Given the description of an element on the screen output the (x, y) to click on. 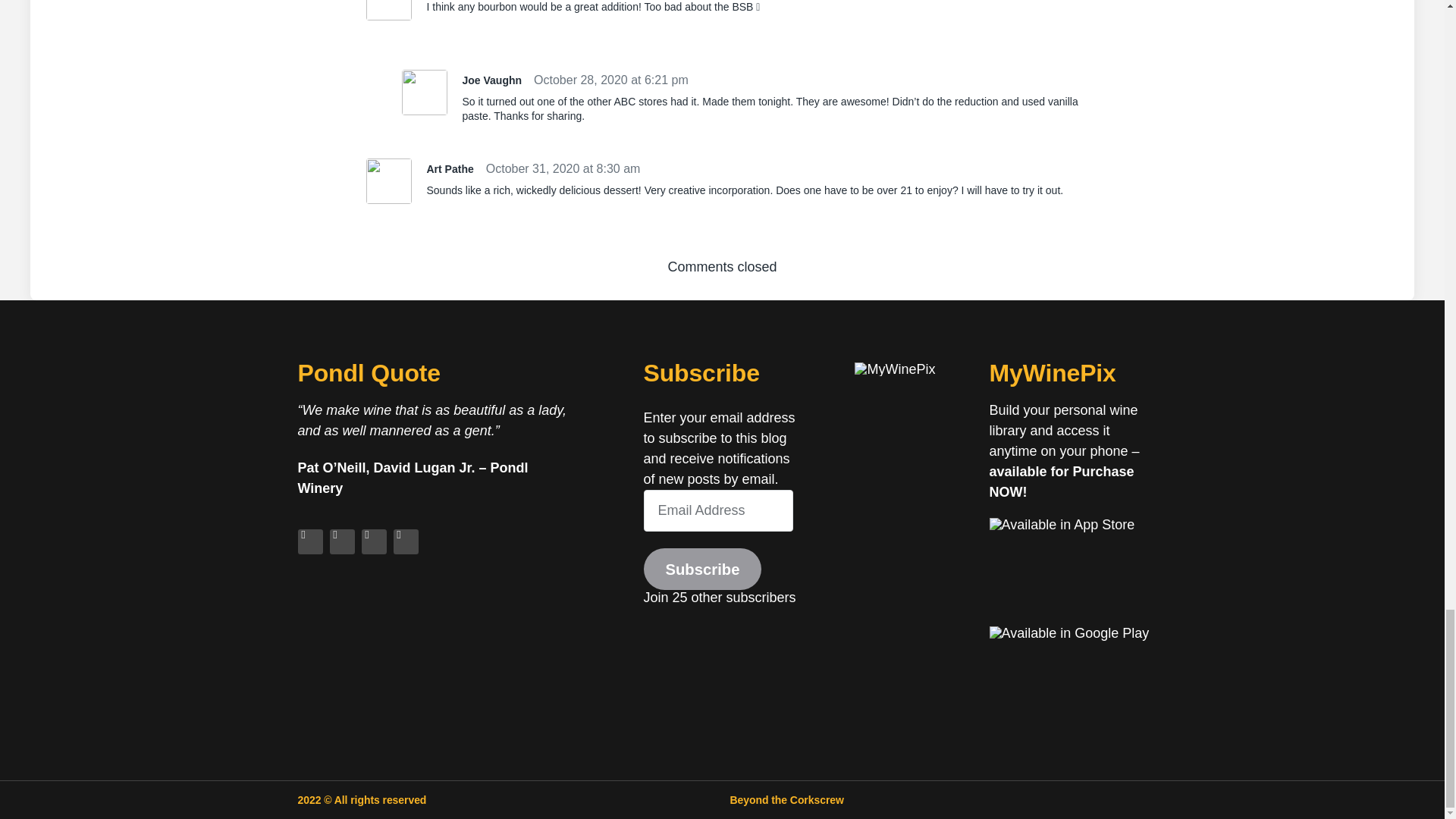
October 28, 2020 at 6:21 pm (611, 79)
October 31, 2020 at 8:30 am (563, 169)
Subscribe (702, 568)
MyWinePix (894, 368)
